Given the description of an element on the screen output the (x, y) to click on. 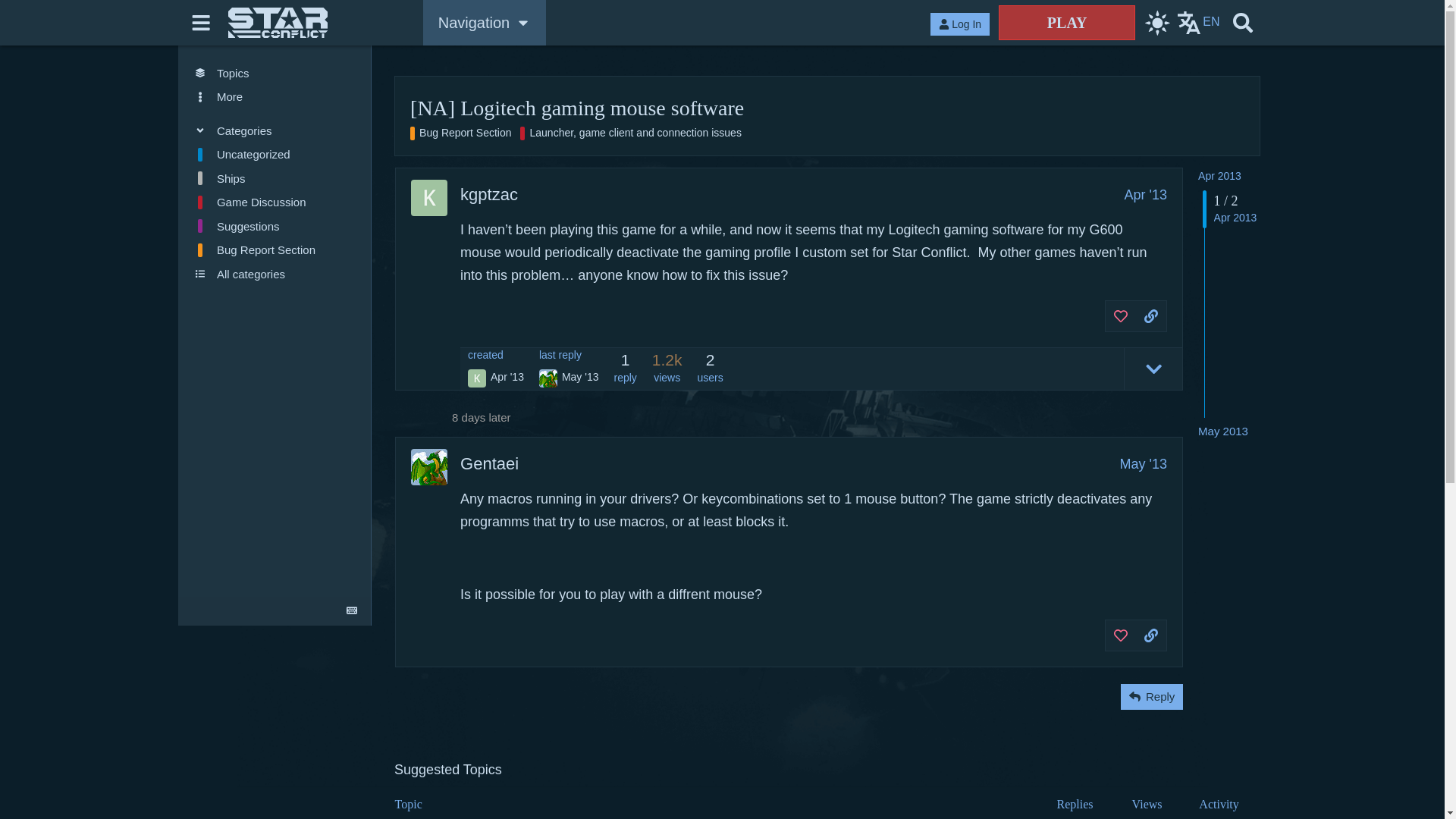
All categories (274, 274)
May 6, 2013 11:42 pm (1222, 431)
Bug Report Section (460, 133)
Post date (1145, 194)
Search (1242, 22)
Toggle color scheme (1156, 22)
All topics (274, 72)
Apr 2013 (1219, 175)
Bug Report Section (274, 250)
Play (1066, 22)
May 2013 (1222, 430)
Toggle section (274, 130)
Reply (1151, 696)
Ships (274, 178)
PLAY (1066, 22)
